Given the description of an element on the screen output the (x, y) to click on. 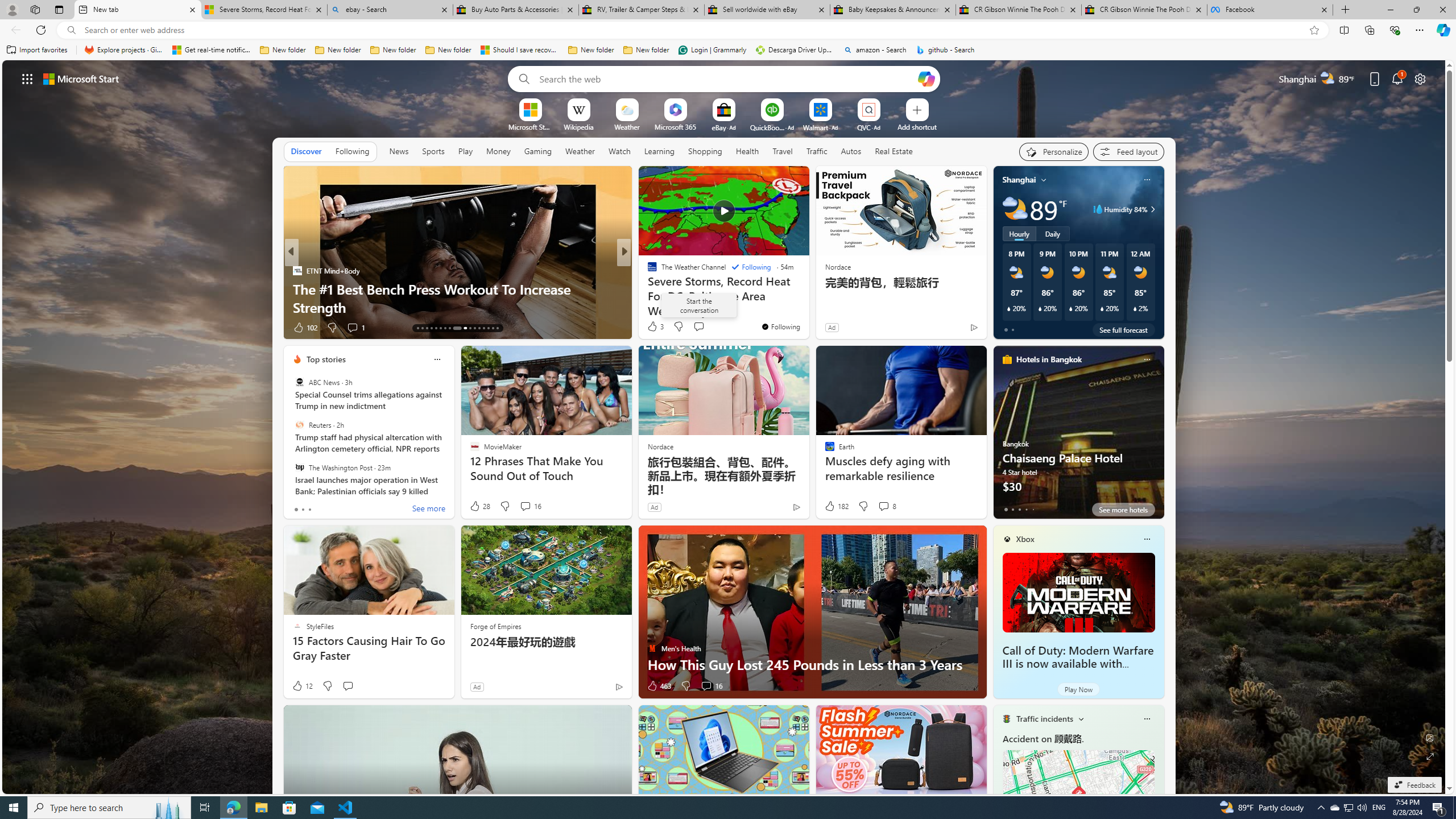
View comments 8 Comment (883, 505)
tab-3 (1025, 509)
AutomationID: tab-17 (435, 328)
AutomationID: tab-18 (440, 328)
More Options (886, 101)
Wikipedia (578, 126)
